Given the description of an element on the screen output the (x, y) to click on. 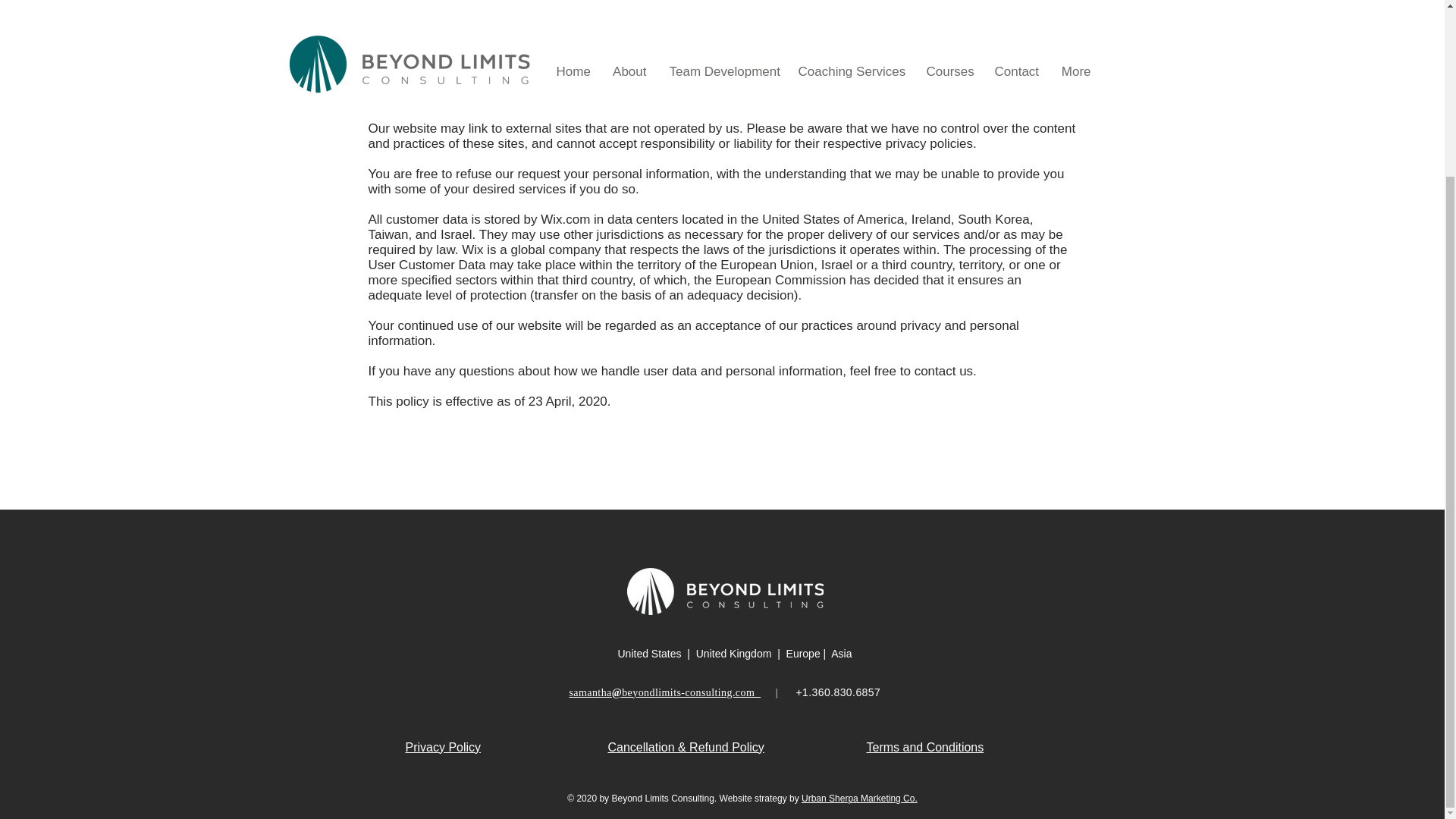
Privacy Policy (442, 747)
Urban Sherpa Marketing Co. (859, 798)
Terms and Conditions (925, 747)
